Given the description of an element on the screen output the (x, y) to click on. 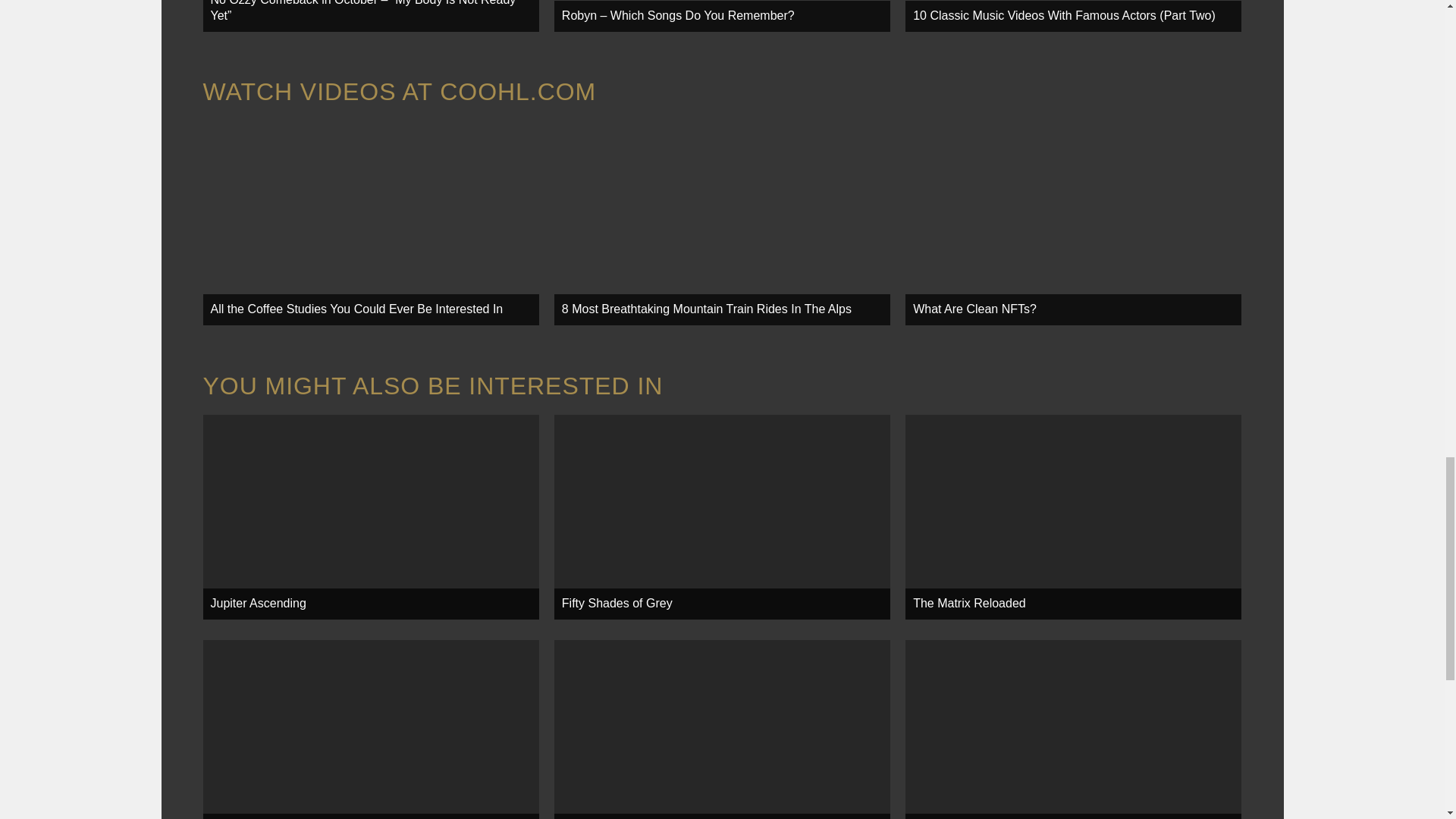
Jupiter Ascending (370, 516)
Step Up All In (721, 729)
Fifty Shades of Grey (721, 516)
WATCH VIDEOS AT COOHL.COM (399, 91)
8 Most Breathtaking Mountain Train Rides In The Alps (721, 222)
The Holiday (370, 729)
All the Coffee Studies You Could Ever Be Interested In (370, 222)
